Given the description of an element on the screen output the (x, y) to click on. 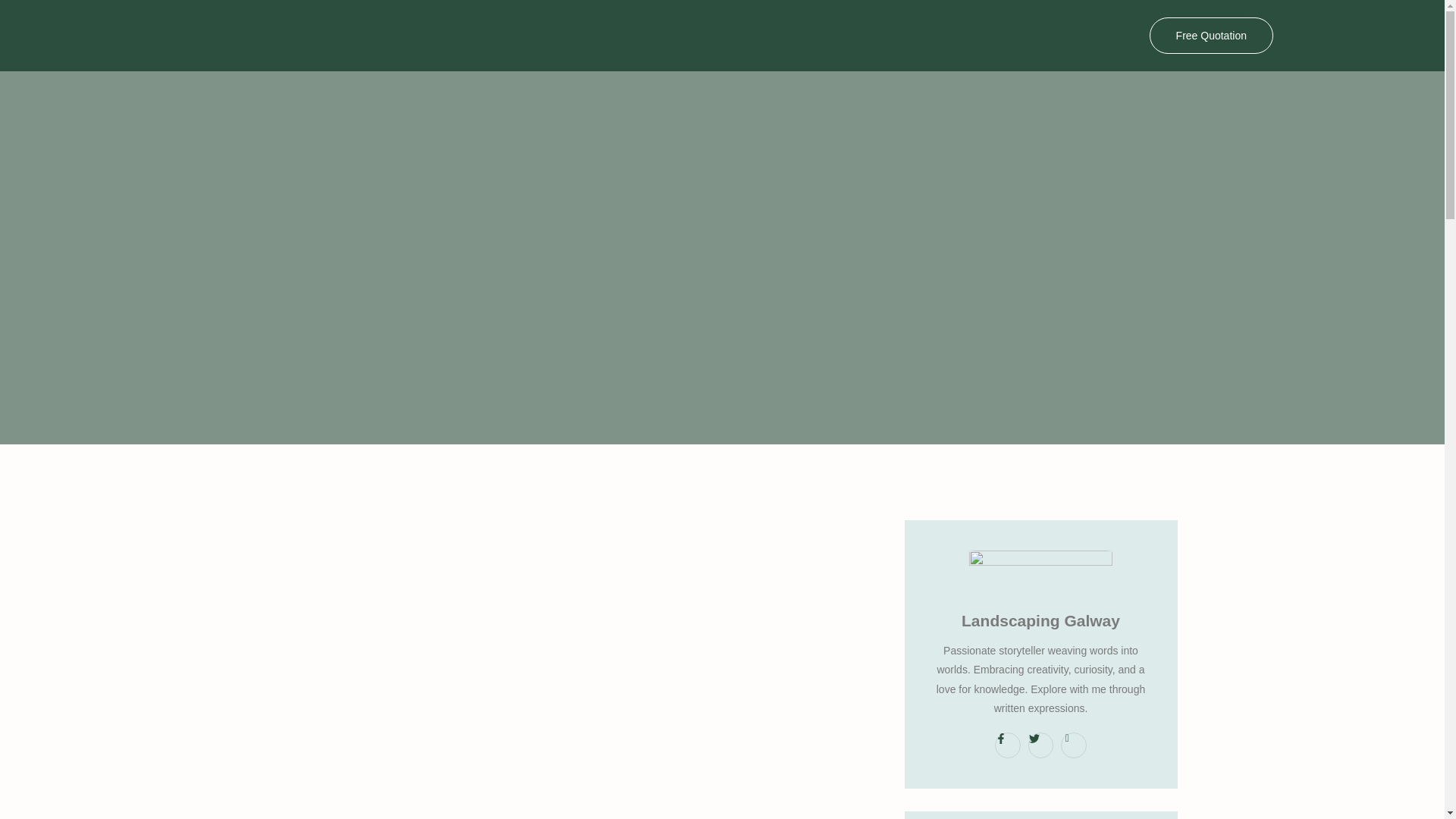
Free Quotation (1211, 35)
Free Quotation (1211, 35)
Landscaping Galway (1040, 618)
